Given the description of an element on the screen output the (x, y) to click on. 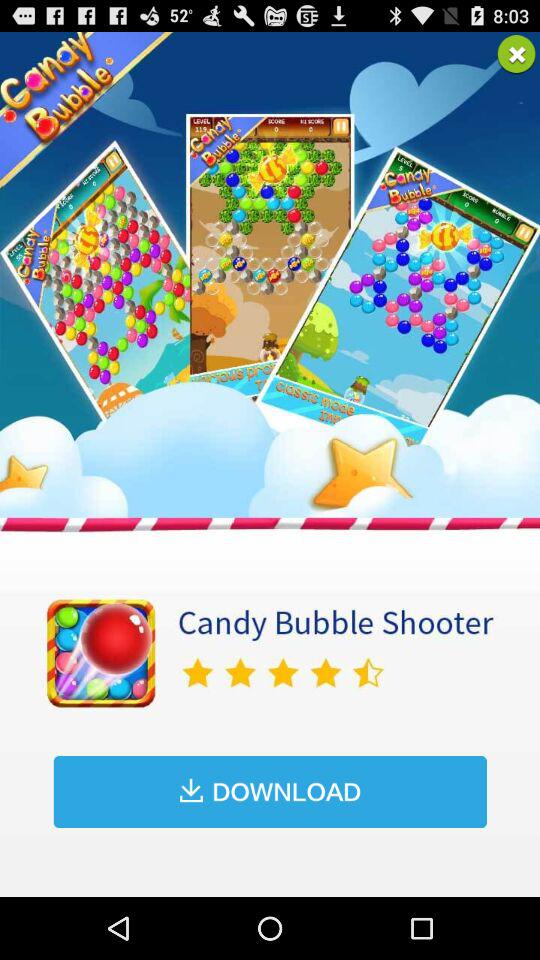
exit the advertisement (516, 54)
